Given the description of an element on the screen output the (x, y) to click on. 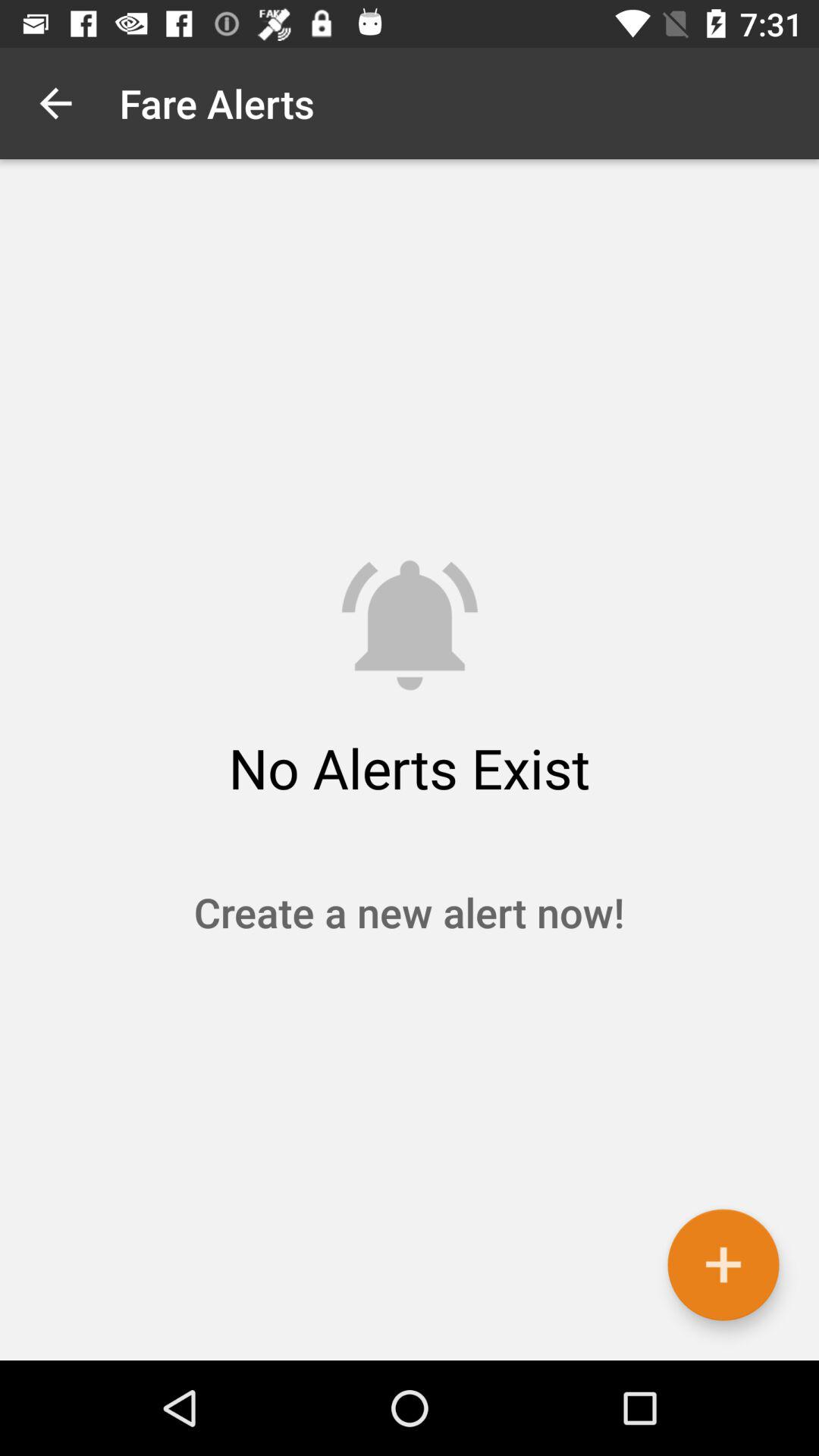
choose item next to the fare alerts item (55, 103)
